Given the description of an element on the screen output the (x, y) to click on. 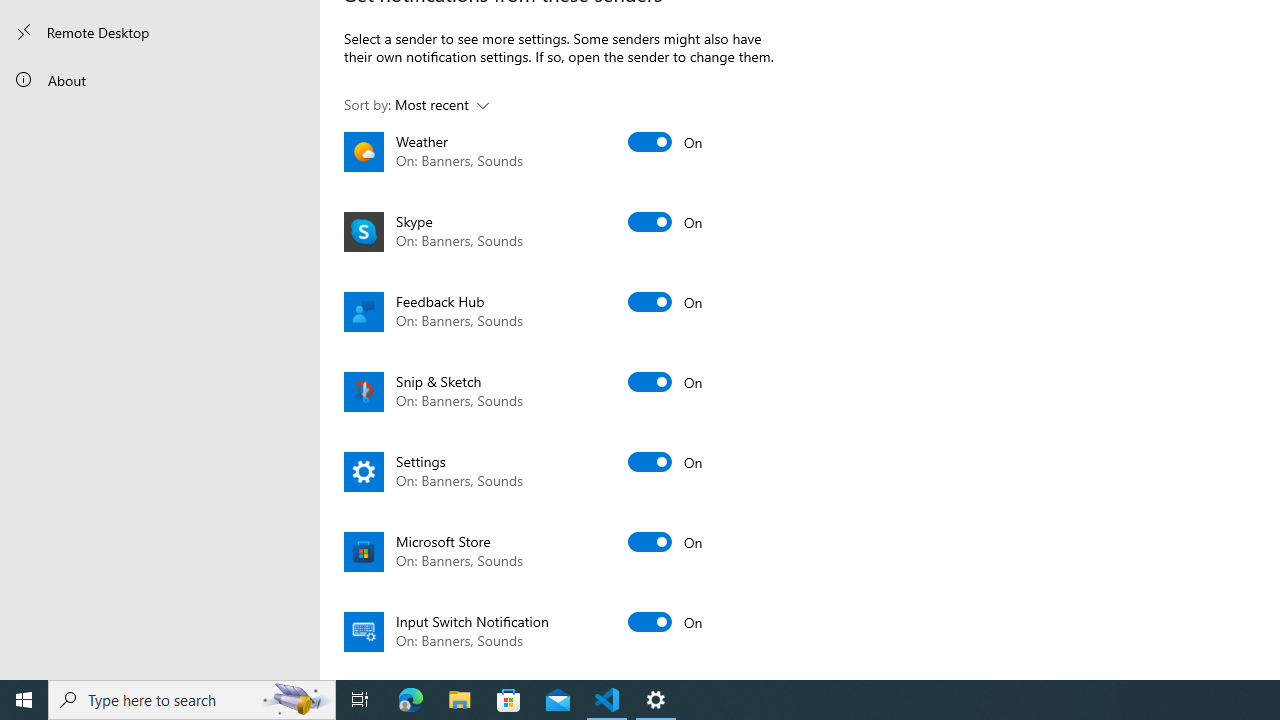
Microsoft Store (509, 699)
Visual Studio Code - 1 running window (607, 699)
Settings - 1 running window (656, 699)
Search highlights icon opens search home window (295, 699)
Microsoft Edge (411, 699)
Task View (359, 699)
File Explorer (460, 699)
Type here to search (191, 699)
